Given the description of an element on the screen output the (x, y) to click on. 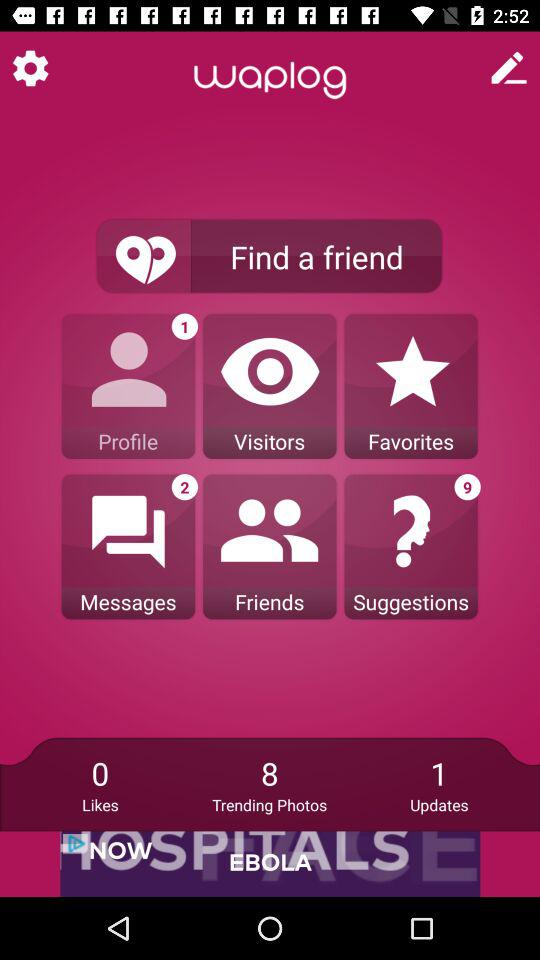
go to setting (30, 68)
